Given the description of an element on the screen output the (x, y) to click on. 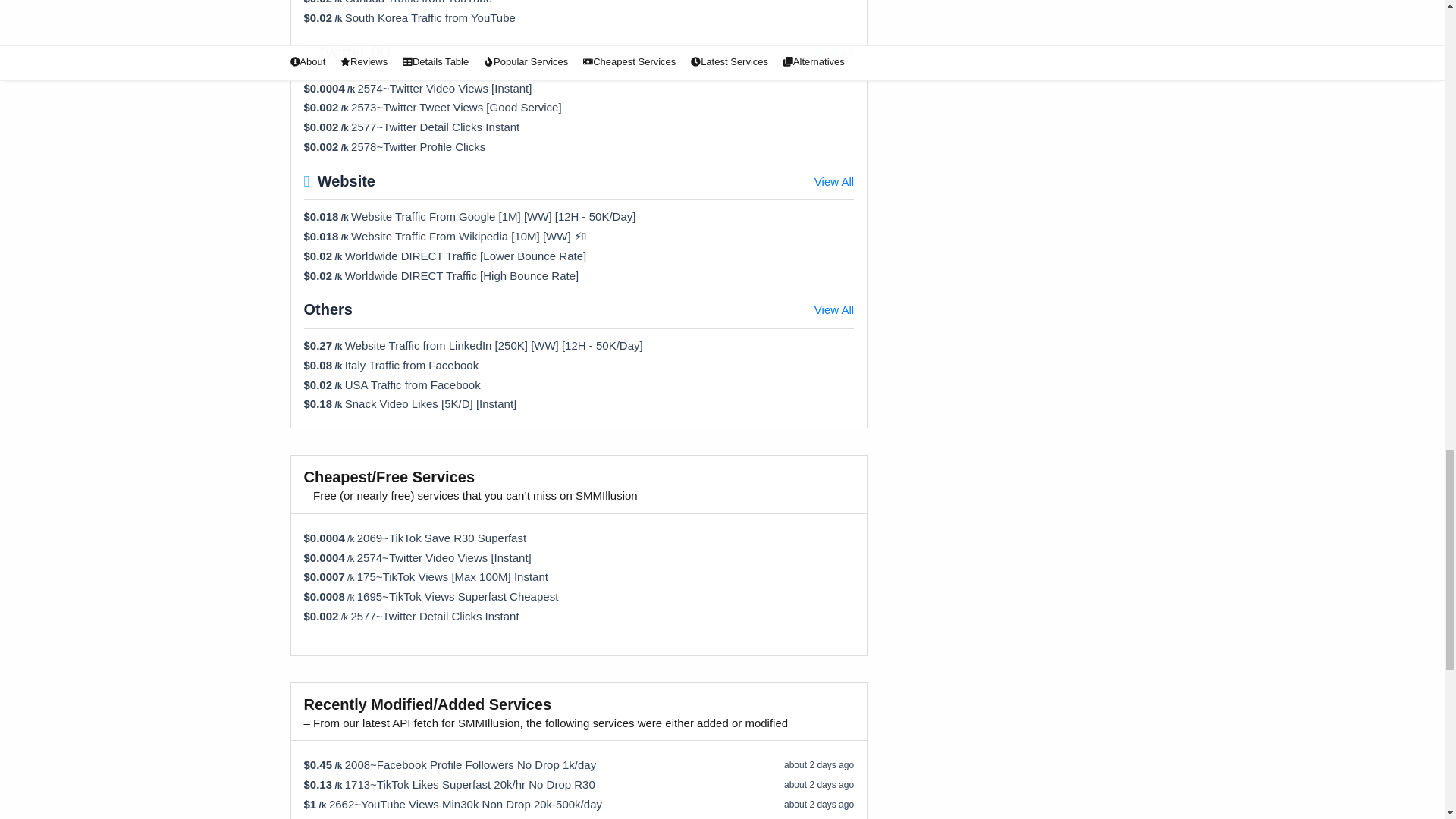
View All (833, 310)
View All (833, 53)
View All (833, 181)
